Given the description of an element on the screen output the (x, y) to click on. 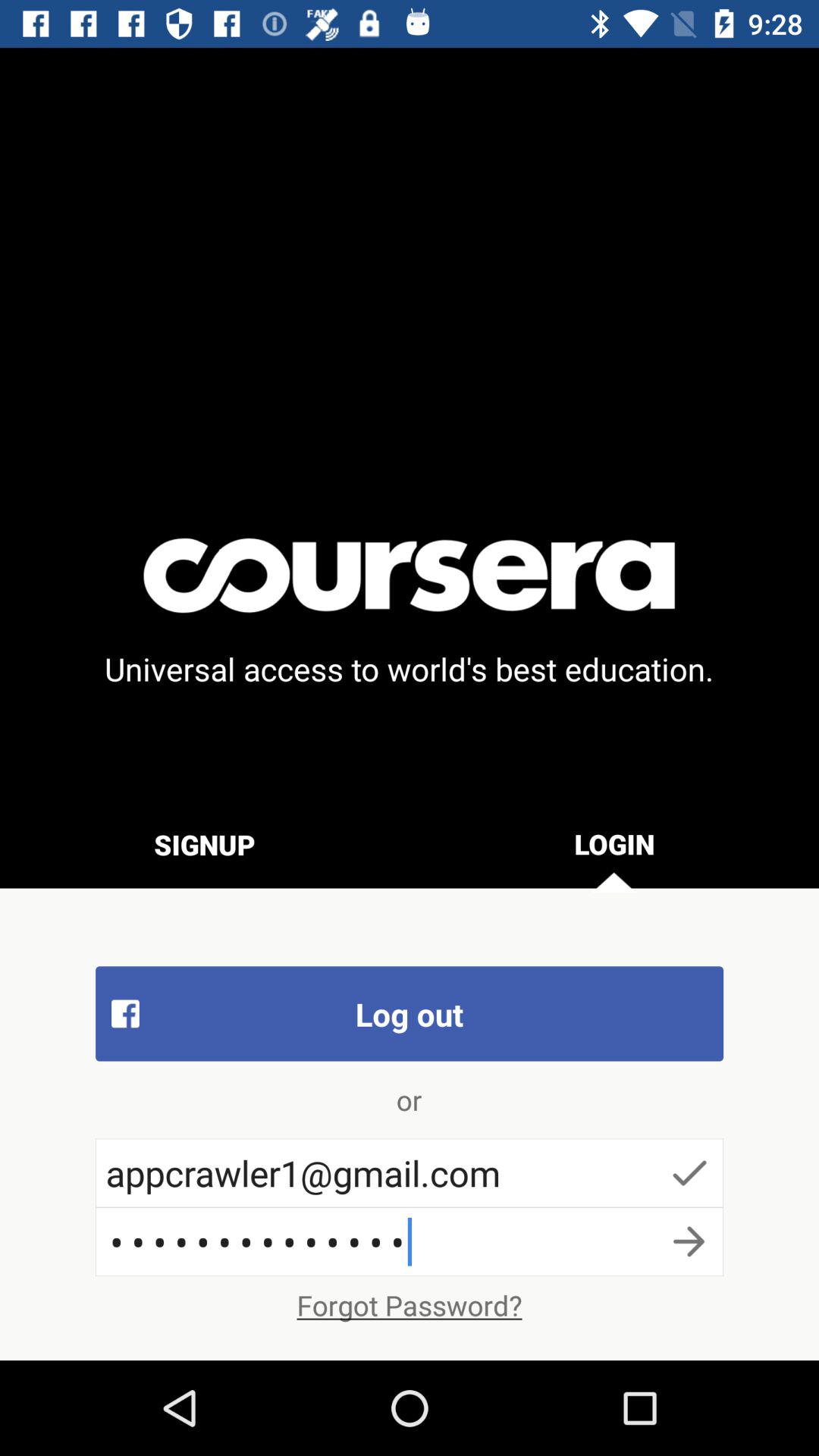
open forgot password? icon (409, 1305)
